Given the description of an element on the screen output the (x, y) to click on. 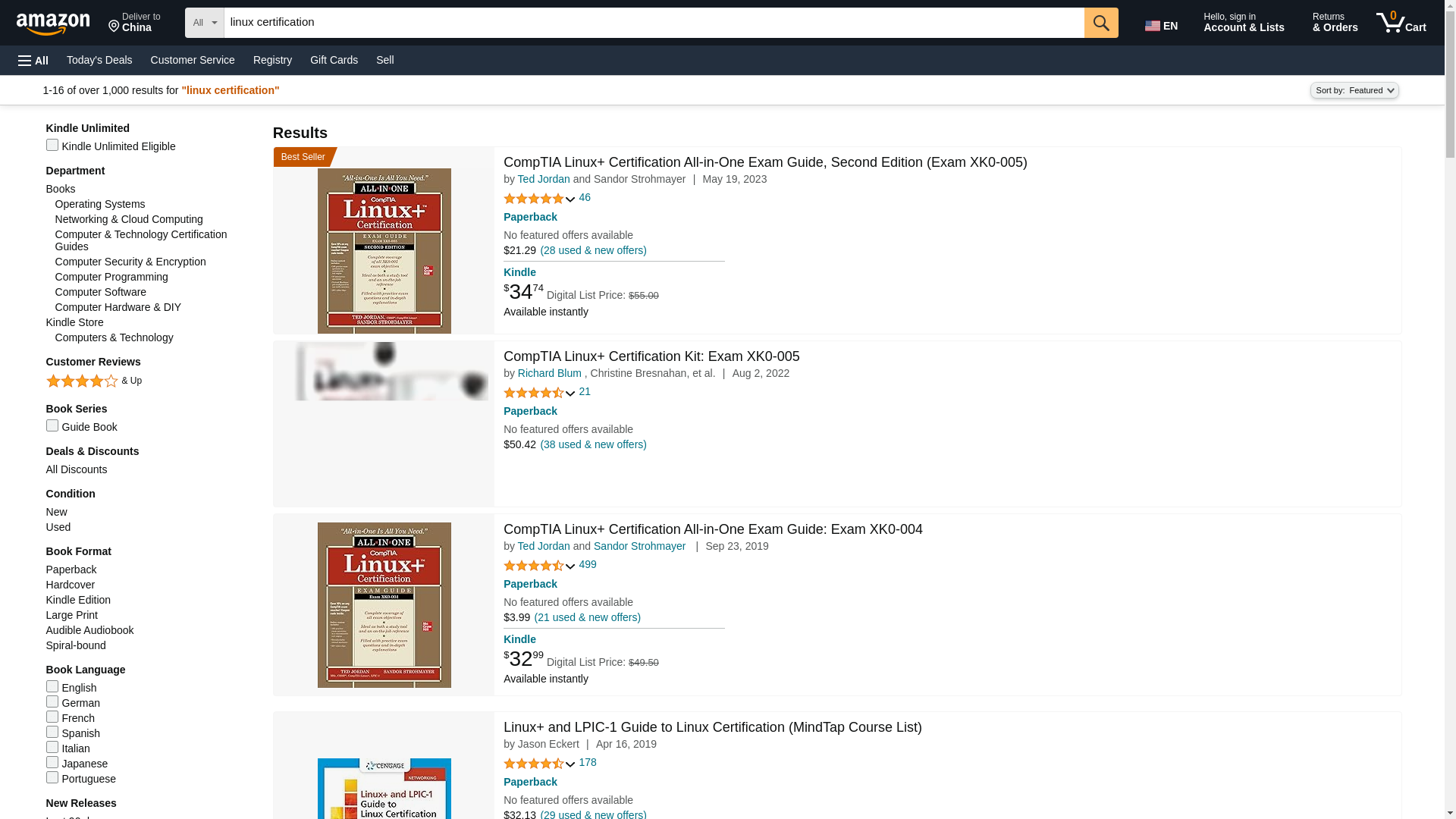
Richard Blum (549, 372)
EN (1163, 22)
Paperback (530, 216)
499 (587, 564)
Ted Jordan (134, 22)
Go (544, 545)
46 (1101, 22)
Ted Jordan (585, 197)
All (544, 178)
Go (33, 60)
Paperback (1101, 22)
Sell (1401, 22)
Paperback (530, 583)
